Given the description of an element on the screen output the (x, y) to click on. 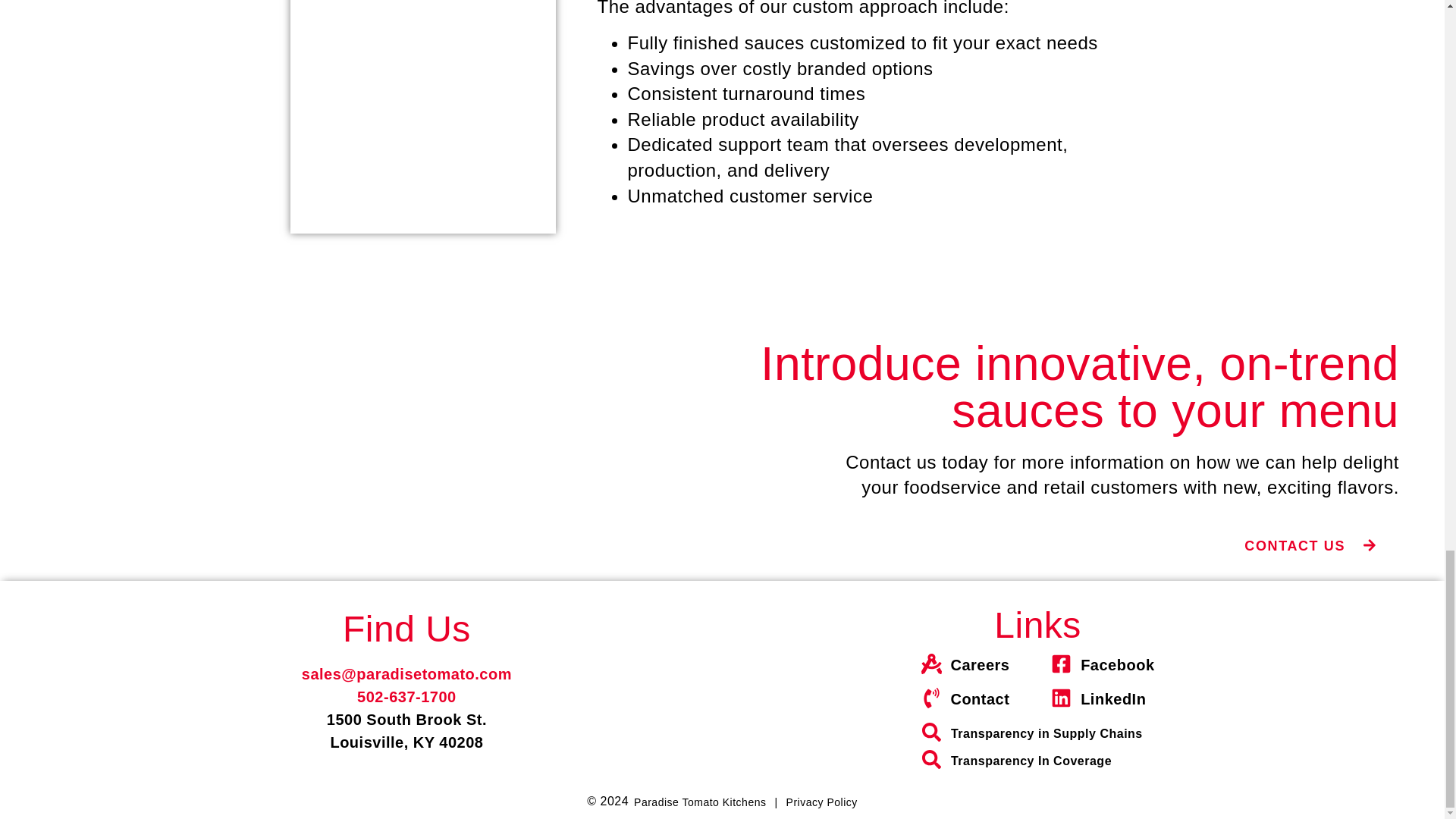
Contact (965, 699)
Paradise Tomato Kitchens (699, 802)
Careers (965, 665)
Transparency in Supply Chains (1031, 733)
Privacy Policy (821, 802)
CONTACT US (1310, 545)
LinkedIn (1102, 699)
Facebook (1102, 665)
Transparency In Coverage (1031, 760)
502-637-1700 (406, 696)
